Given the description of an element on the screen output the (x, y) to click on. 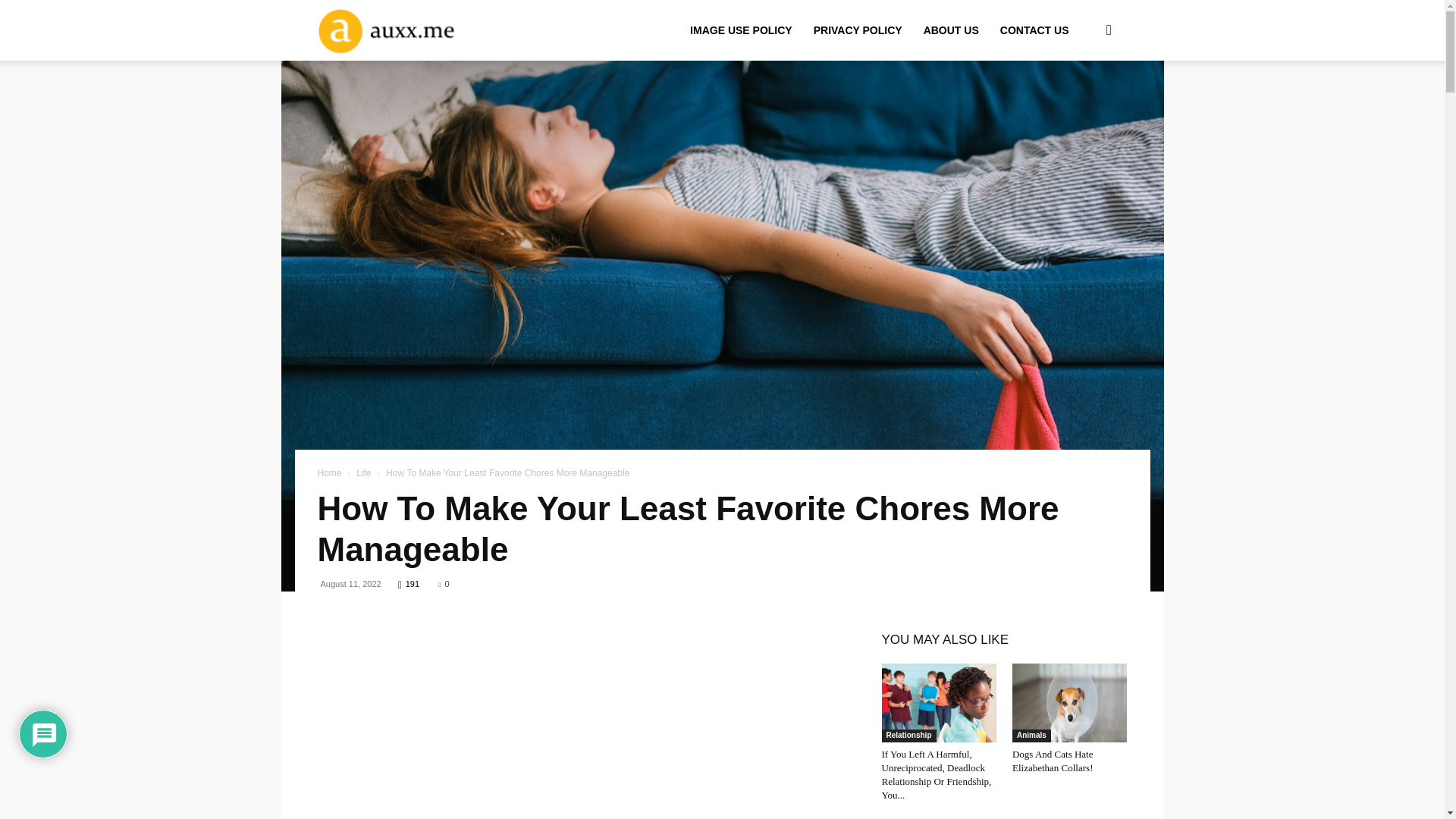
CONTACT US (1035, 30)
Advertisement (580, 730)
PRIVACY POLICY (857, 30)
Auxx Me (408, 30)
View all posts in Life (363, 472)
Life (363, 472)
0 (443, 583)
Search (1085, 102)
Home (328, 472)
ABOUT US (951, 30)
IMAGE USE POLICY (741, 30)
